Given the description of an element on the screen output the (x, y) to click on. 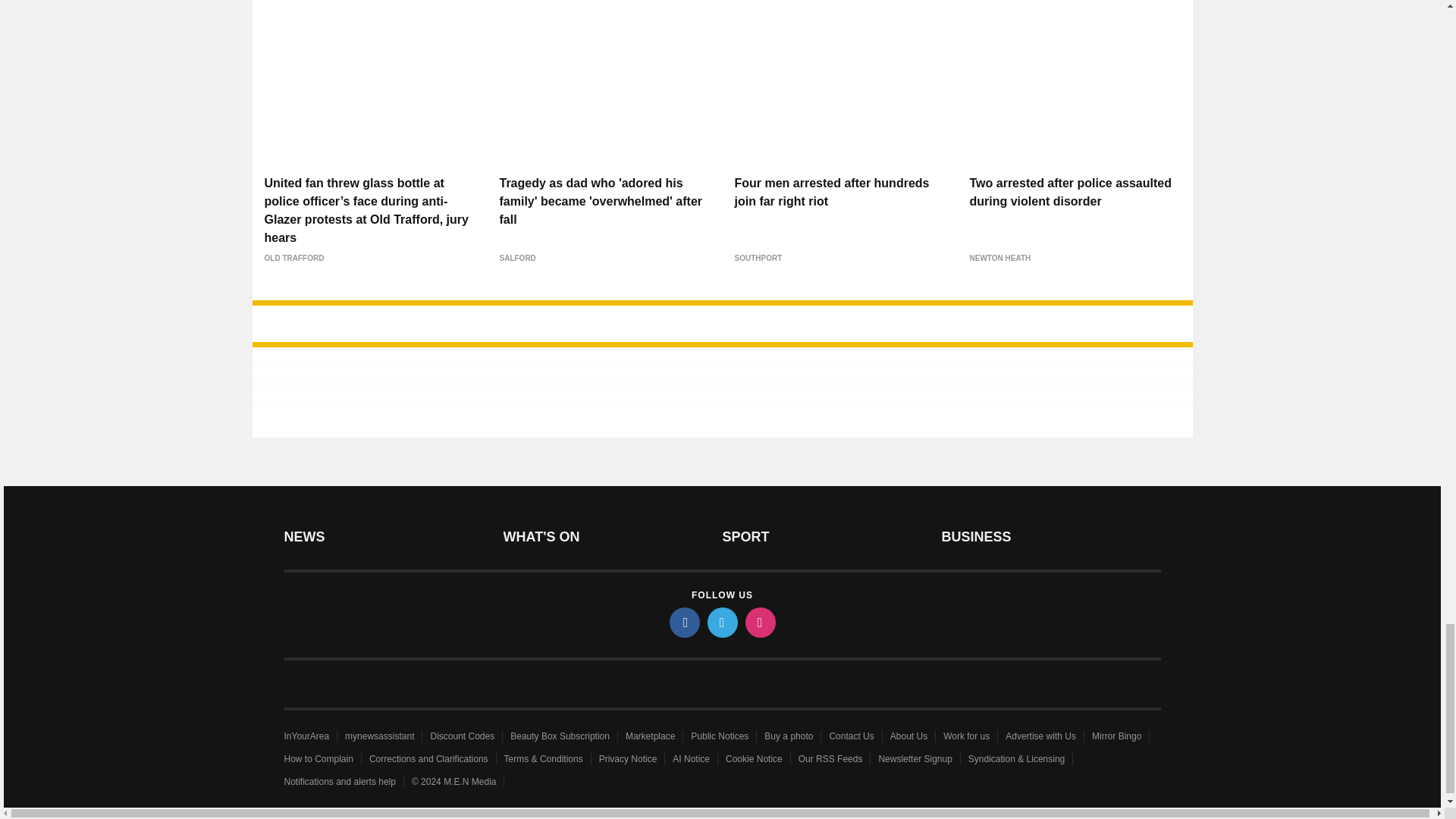
instagram (759, 622)
twitter (721, 622)
facebook (683, 622)
